Given the description of an element on the screen output the (x, y) to click on. 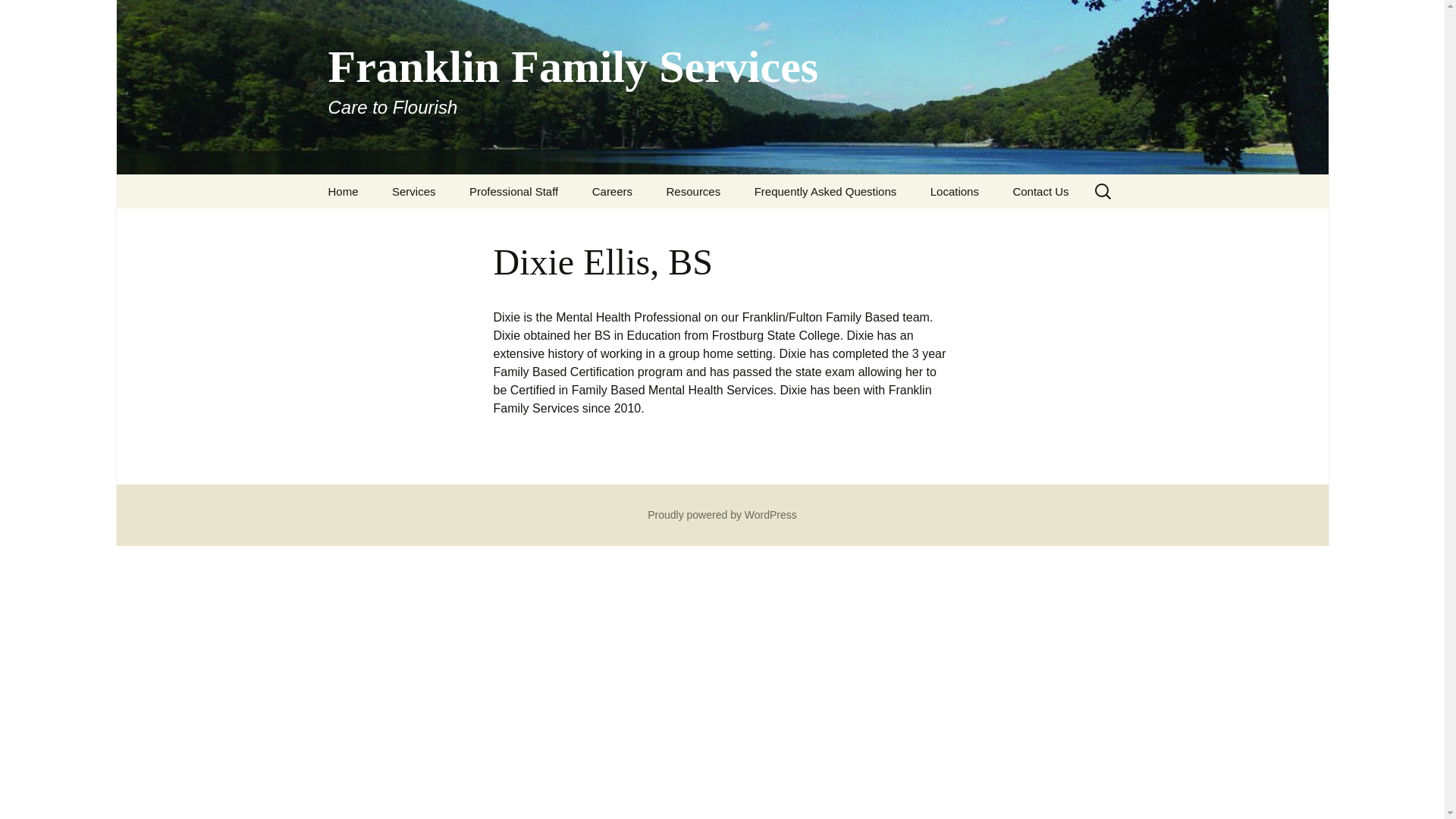
Professional Staff (513, 191)
Frequently Asked Questions (825, 191)
Resources (693, 191)
Psychiatric Services (452, 225)
Careers (611, 191)
Contact Us (1040, 191)
Services (414, 191)
Proudly powered by WordPress (18, 15)
Home (721, 514)
Locations (342, 191)
